Given the description of an element on the screen output the (x, y) to click on. 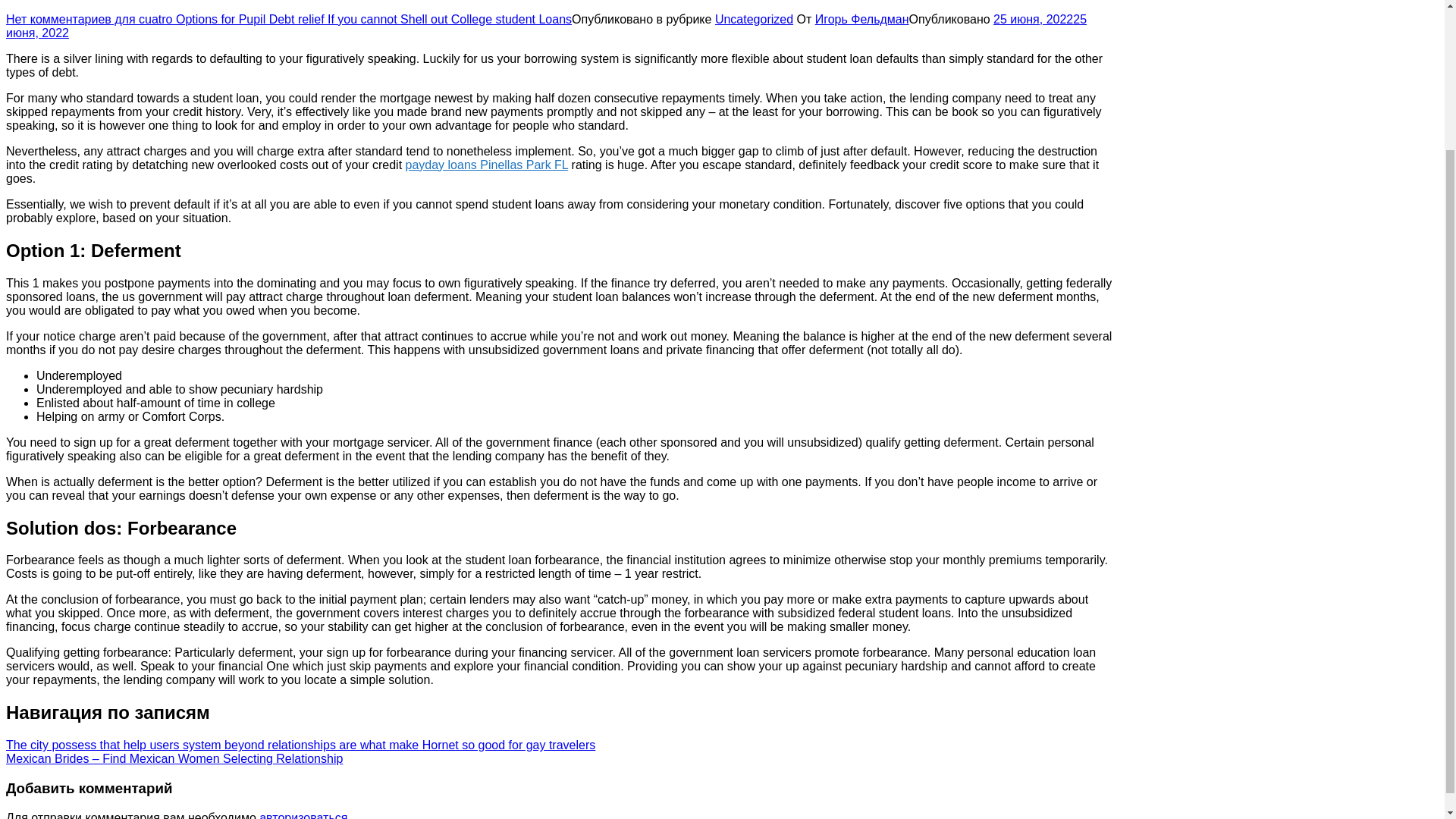
Uncategorized (753, 19)
payday loans Pinellas Park FL (487, 164)
